Given the description of an element on the screen output the (x, y) to click on. 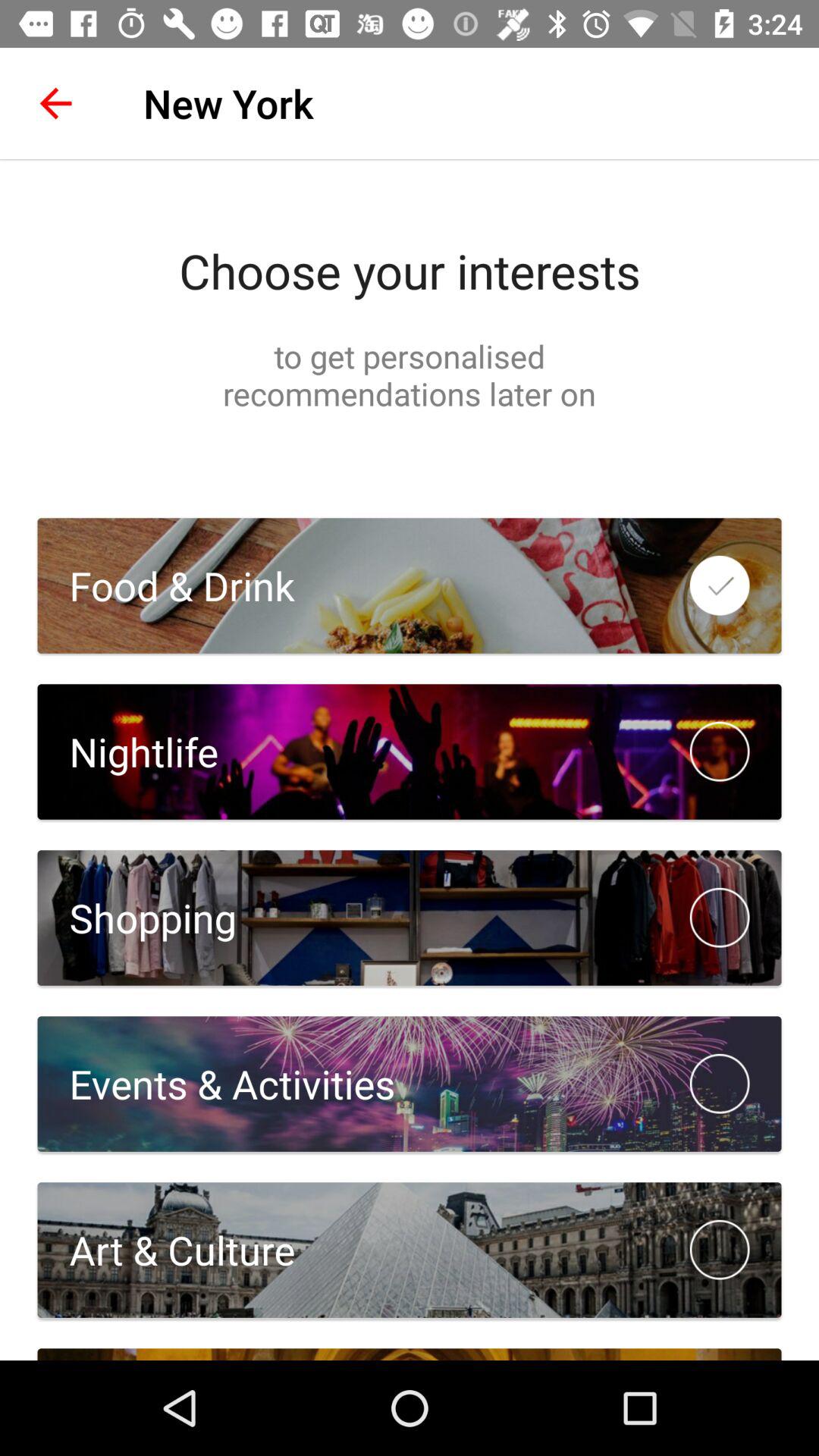
choose shopping icon (136, 917)
